Given the description of an element on the screen output the (x, y) to click on. 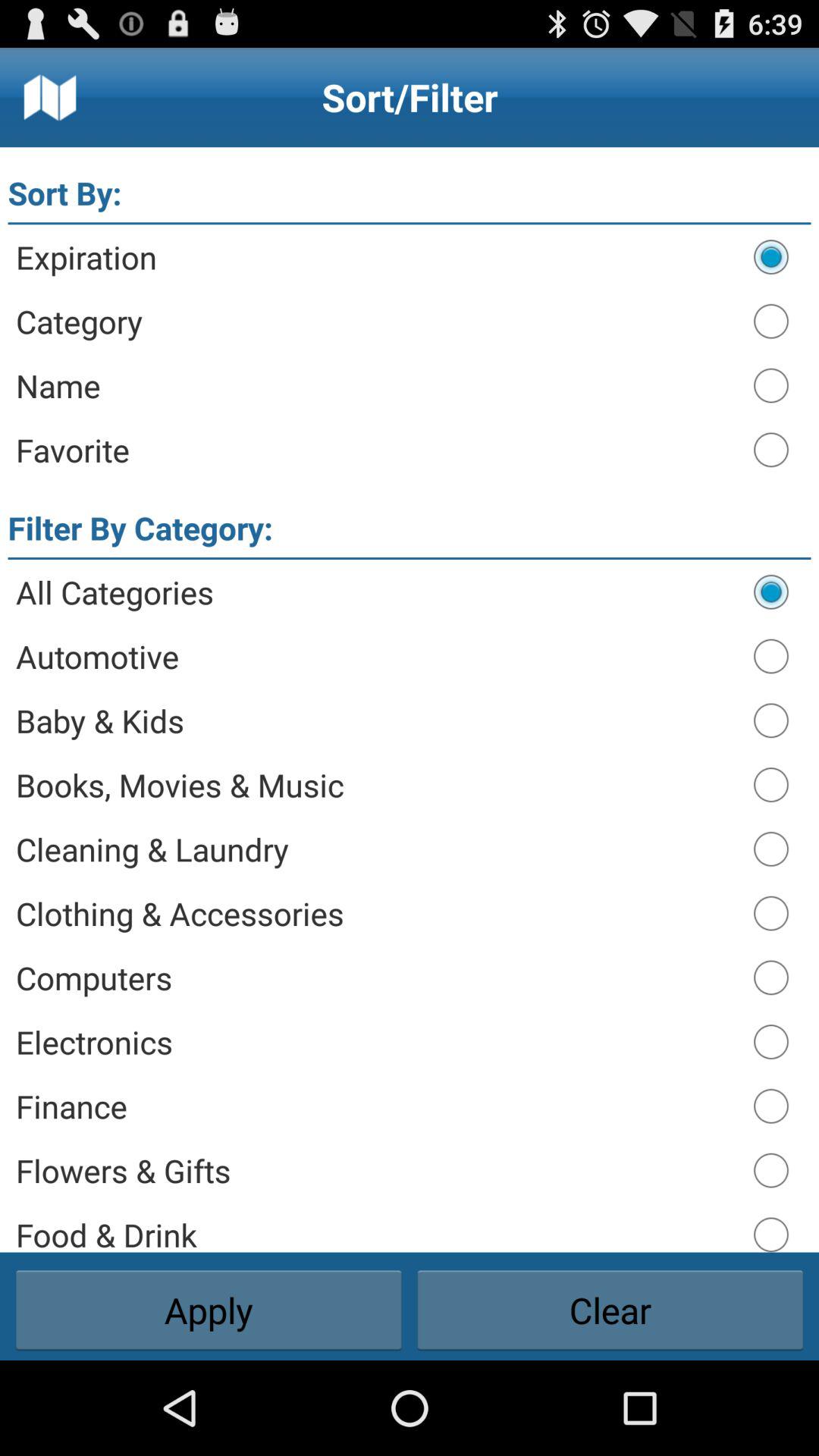
scroll to name icon (377, 385)
